Given the description of an element on the screen output the (x, y) to click on. 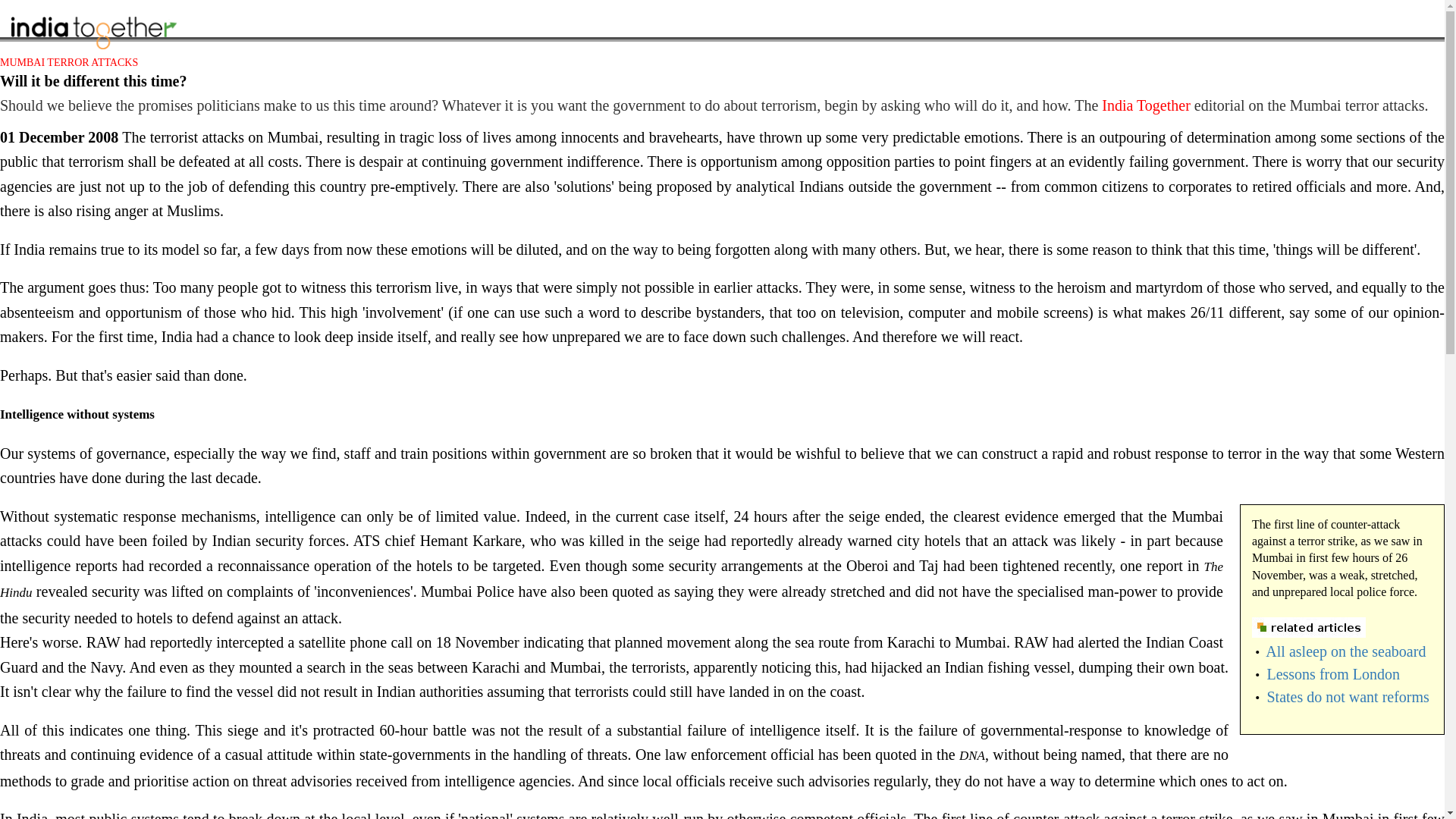
All asleep on the seaboard (1345, 651)
States do not want reforms (1347, 696)
Lessons from London (1332, 673)
